Given the description of an element on the screen output the (x, y) to click on. 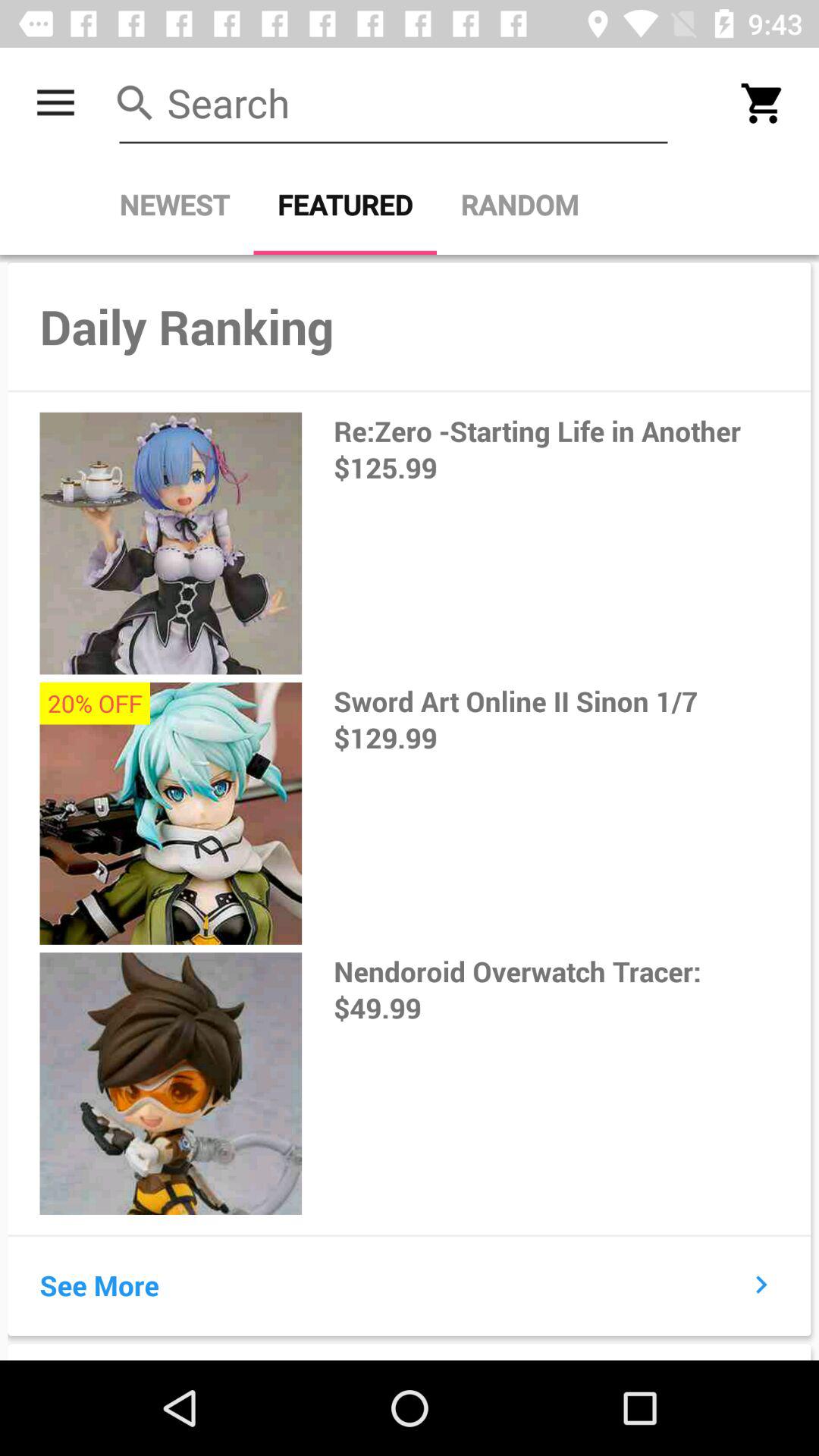
turn off the item to the left of the random icon (344, 204)
